Given the description of an element on the screen output the (x, y) to click on. 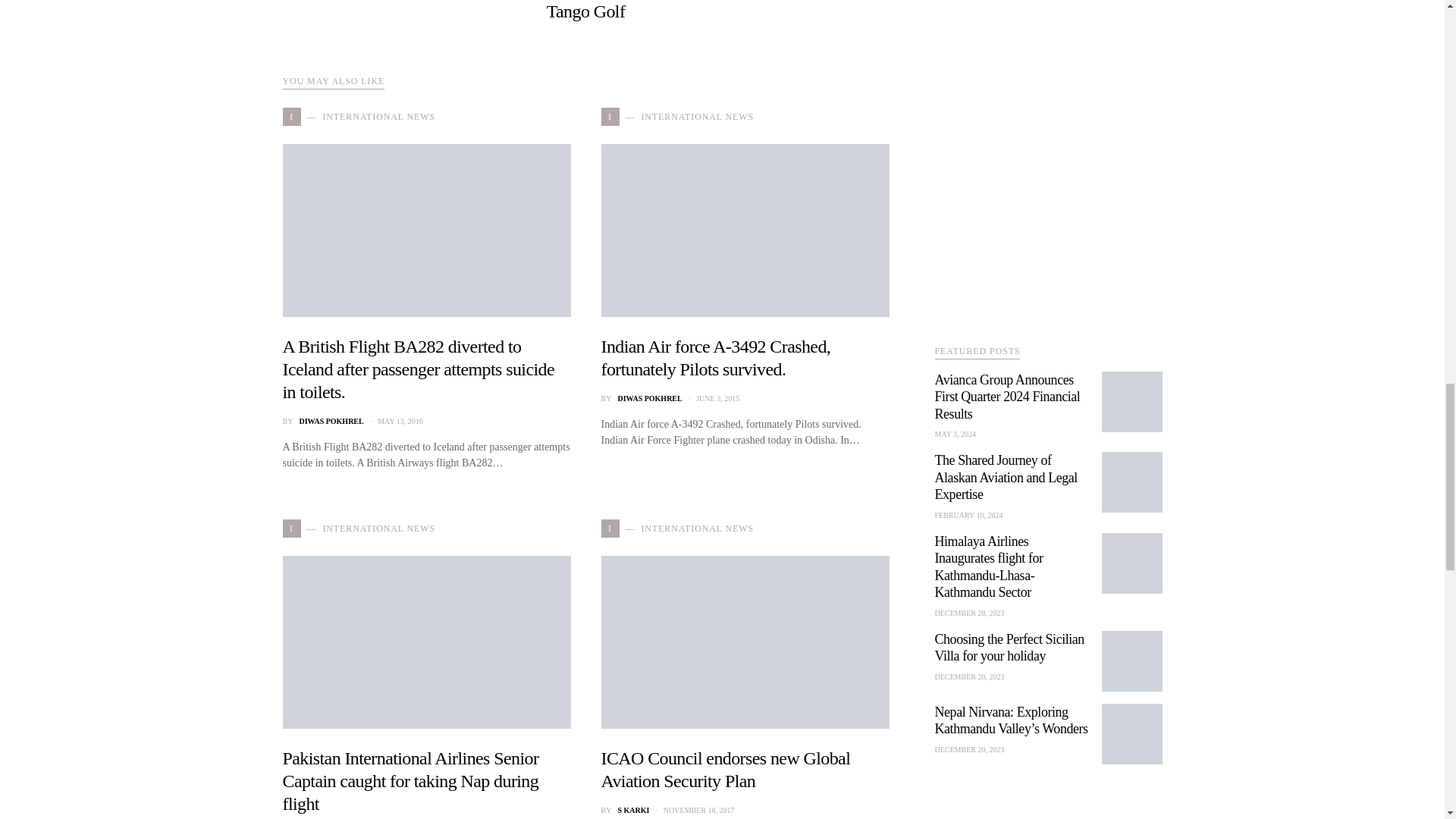
View all posts by S Karki (633, 809)
View all posts by Diwas Pokhrel (649, 398)
View all posts by Diwas Pokhrel (330, 420)
